Given the description of an element on the screen output the (x, y) to click on. 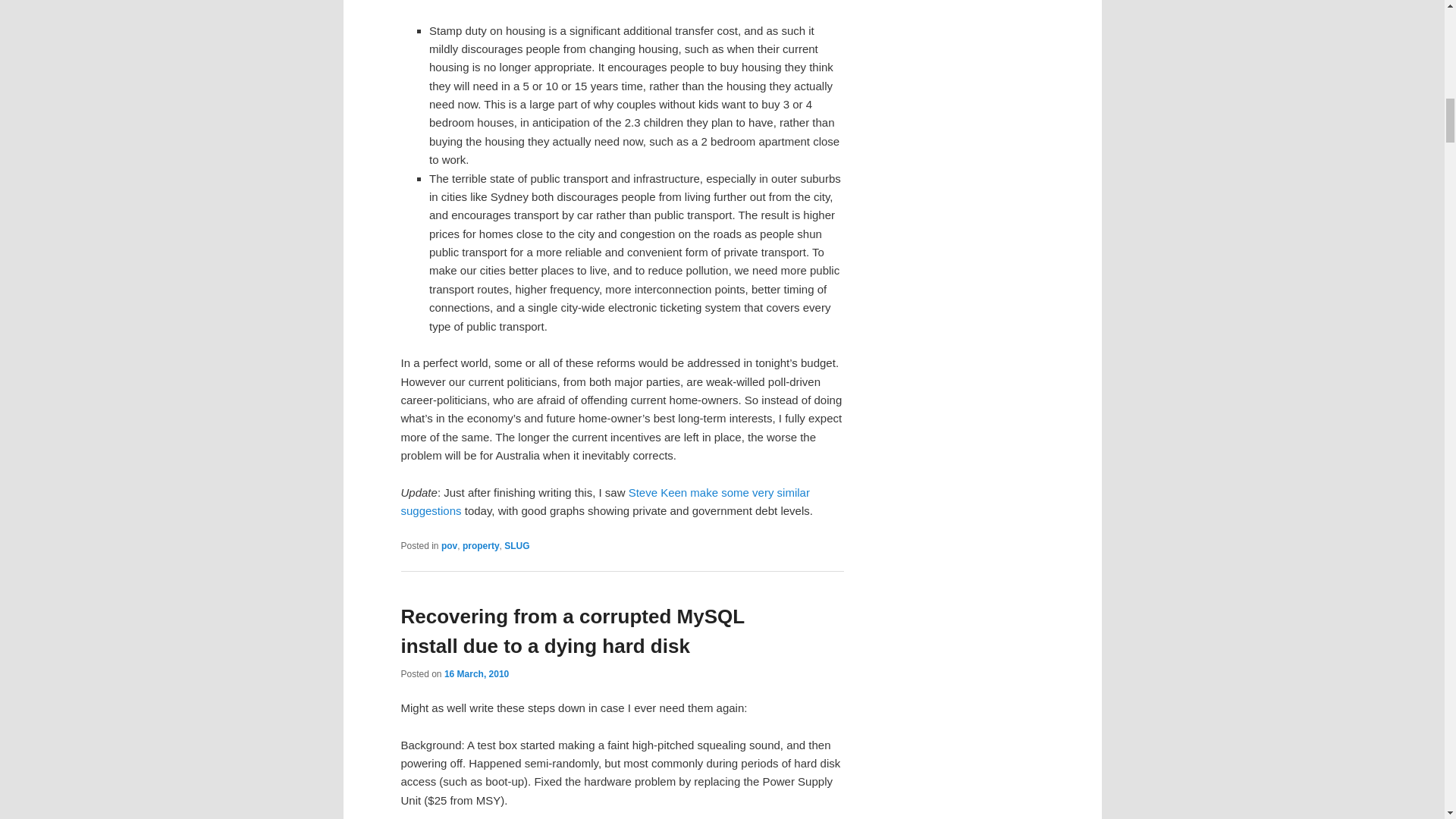
pov (449, 545)
16 March, 2010 (476, 674)
Steve Keen make some very similar suggestions (604, 501)
10:05 pm (476, 674)
property (481, 545)
SLUG (516, 545)
